Given the description of an element on the screen output the (x, y) to click on. 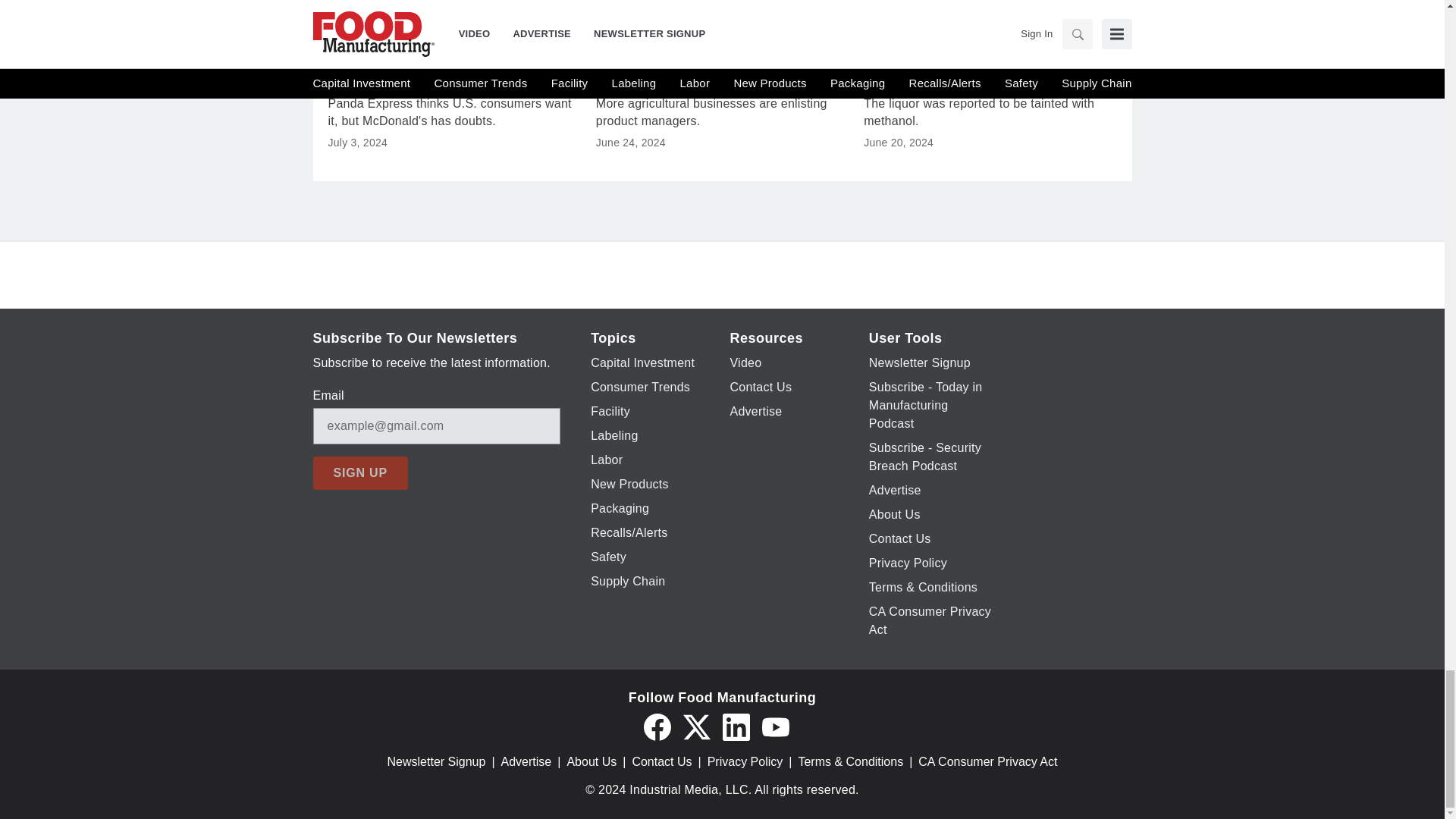
Facebook icon (656, 727)
LinkedIn icon (735, 727)
Twitter X icon (696, 727)
YouTube icon (775, 727)
